Given the description of an element on the screen output the (x, y) to click on. 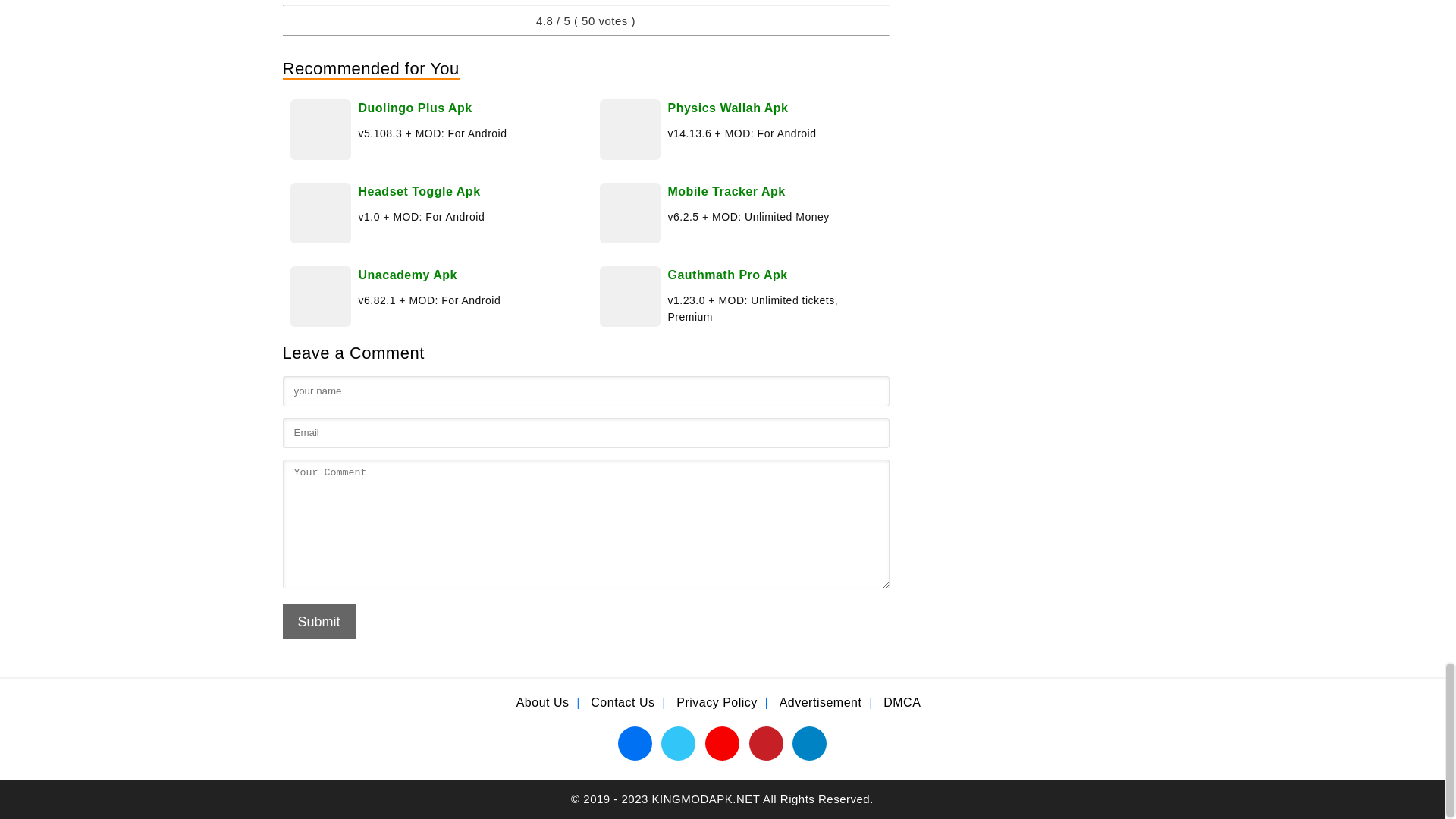
Submit (318, 621)
Official Youtube Channel of KINGMODAPK.NET (721, 742)
Official Telegram Page of KINGMODAPK.NET (809, 742)
Official Facebook Page of KINGMODAPK.NET (634, 742)
Official Pinterest Page of KINGMODAPK.NET (766, 742)
Official Twitter Account of KINGMODAPK.NET (678, 742)
